Given the description of an element on the screen output the (x, y) to click on. 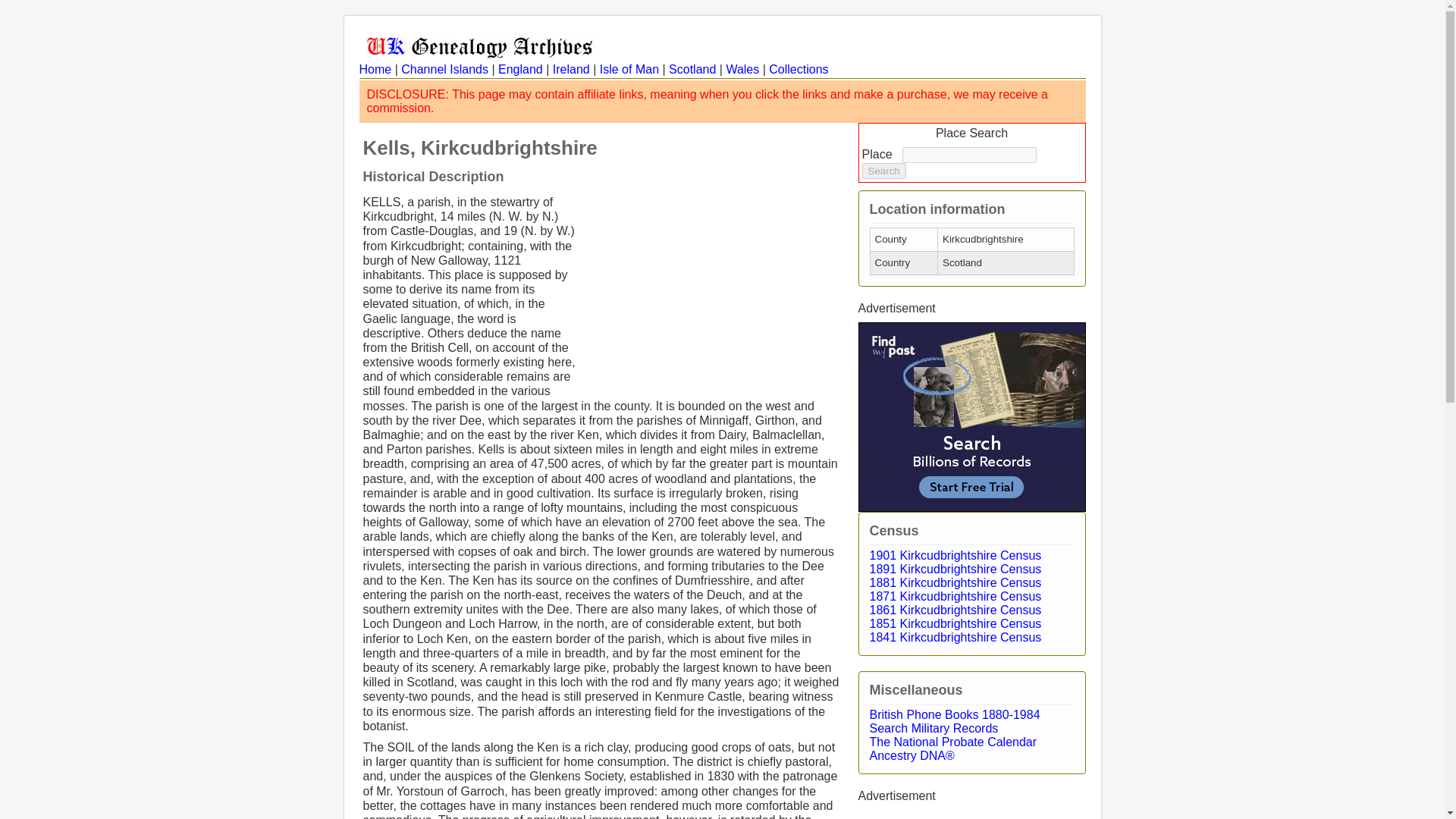
Home (375, 69)
Isle of Man (629, 69)
Ireland (571, 69)
Scotland (692, 69)
England (520, 69)
UK Genealogy Archives Home page (480, 45)
Channel Islands (444, 69)
Wales (741, 69)
Home page (375, 69)
